Given the description of an element on the screen output the (x, y) to click on. 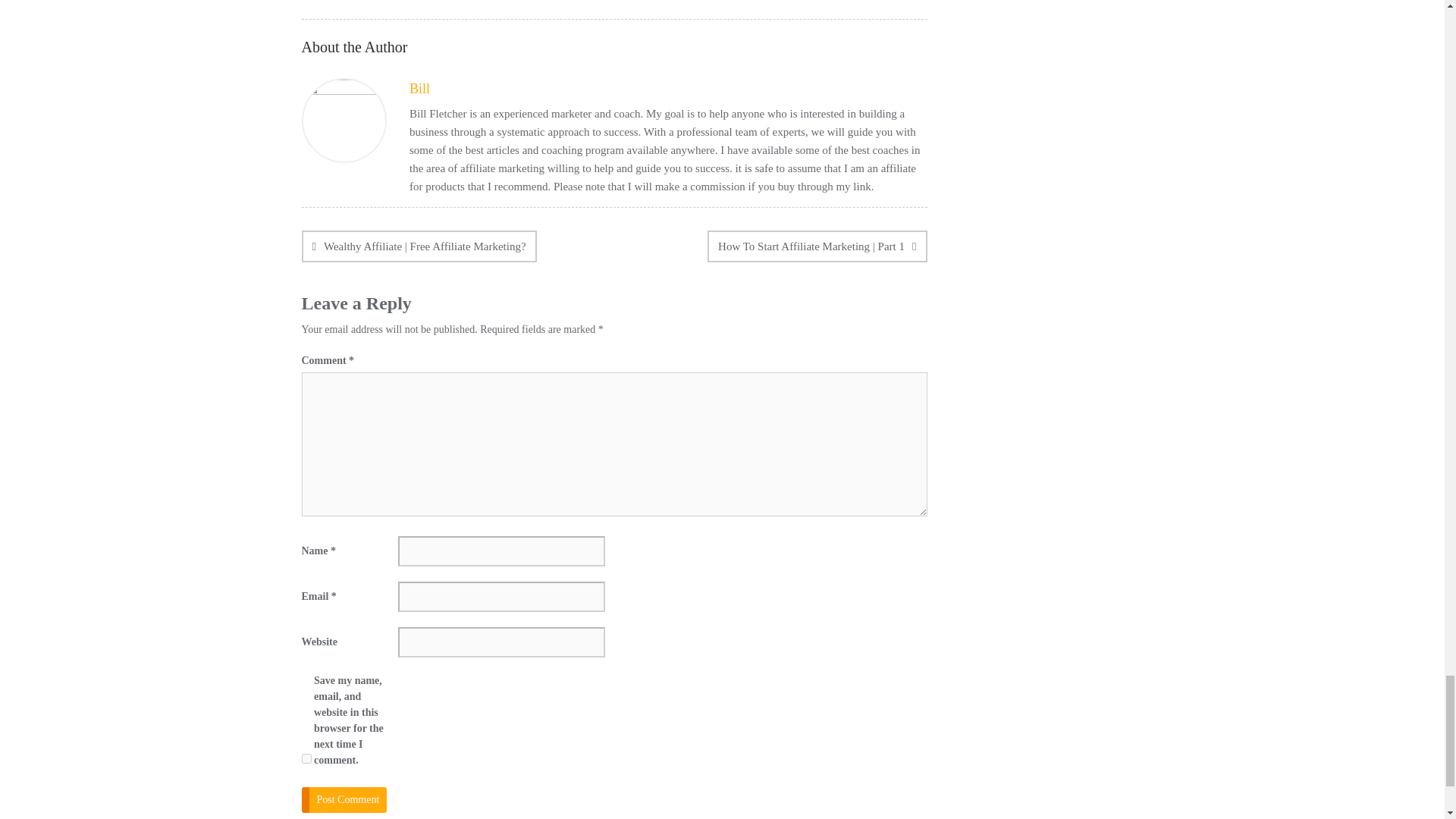
Post Comment (344, 800)
Post Comment (344, 800)
yes (306, 758)
Bill (419, 88)
